Given the description of an element on the screen output the (x, y) to click on. 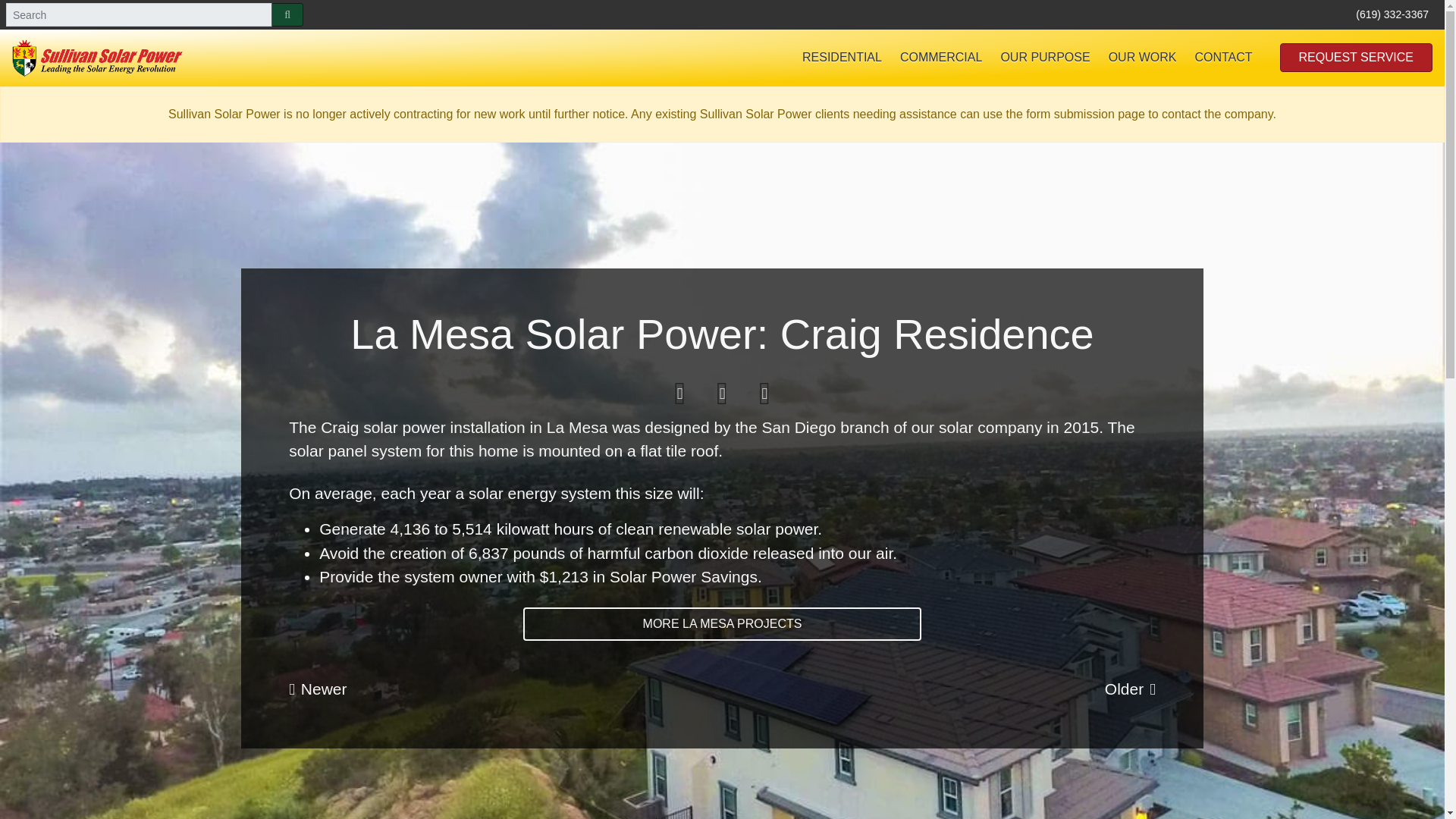
OUR PURPOSE (1045, 57)
Older (1130, 689)
OUR WORK (1142, 57)
MORE LA MESA PROJECTS (721, 623)
COMMERCIAL (941, 57)
Newer (317, 689)
REQUEST SERVICE (1355, 57)
RESIDENTIAL (842, 57)
CONTACT (1222, 57)
